Given the description of an element on the screen output the (x, y) to click on. 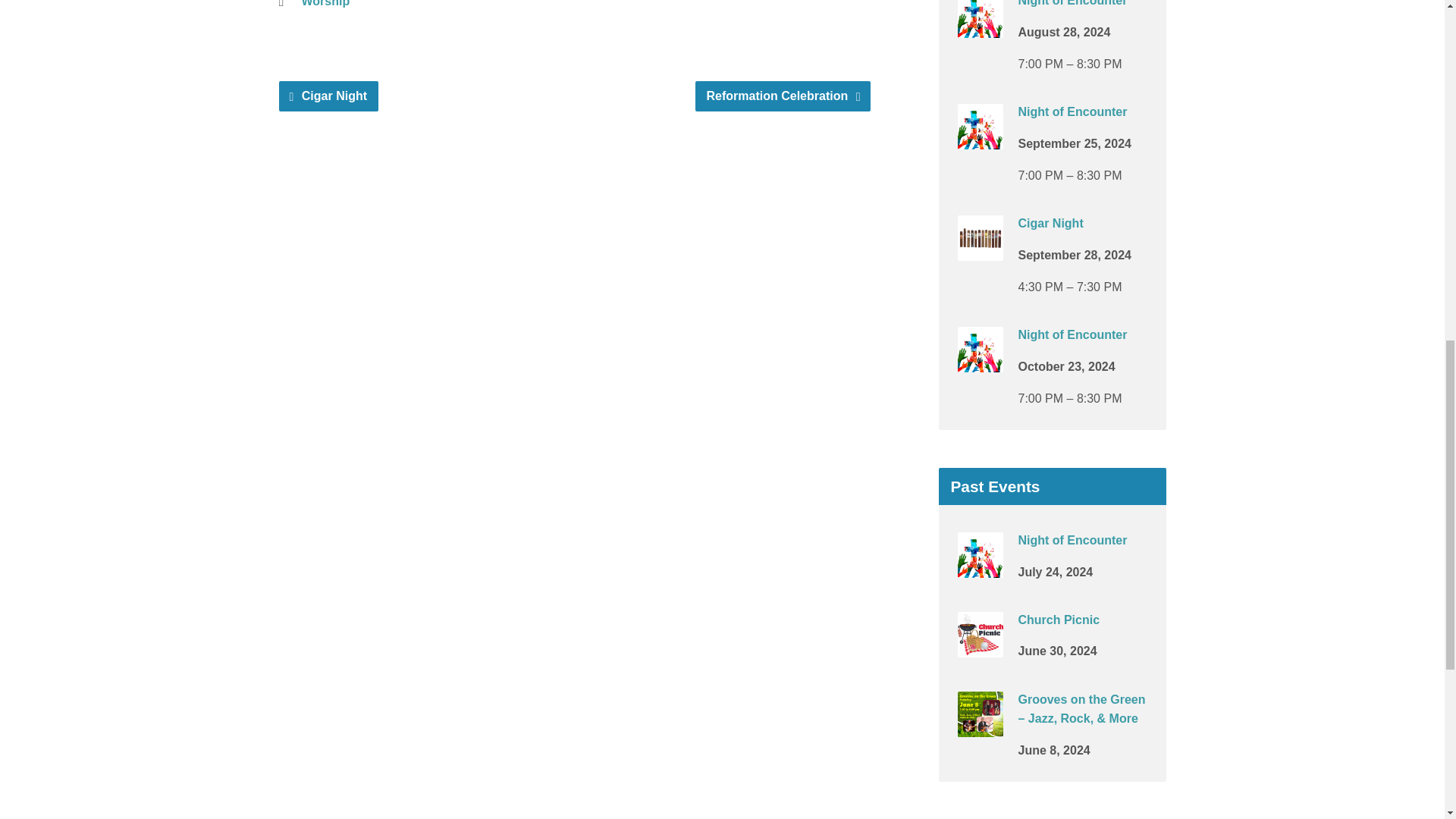
Night of Encounter (1071, 3)
Cigar Night (328, 96)
Worship (325, 3)
Night of Encounter (1071, 334)
Cigar Night (979, 250)
Night of Encounter (979, 361)
Night of Encounter (1071, 111)
Reformation Celebration (782, 96)
Cigar Night (1050, 223)
Night of Encounter (979, 27)
Night of Encounter (979, 138)
